Given the description of an element on the screen output the (x, y) to click on. 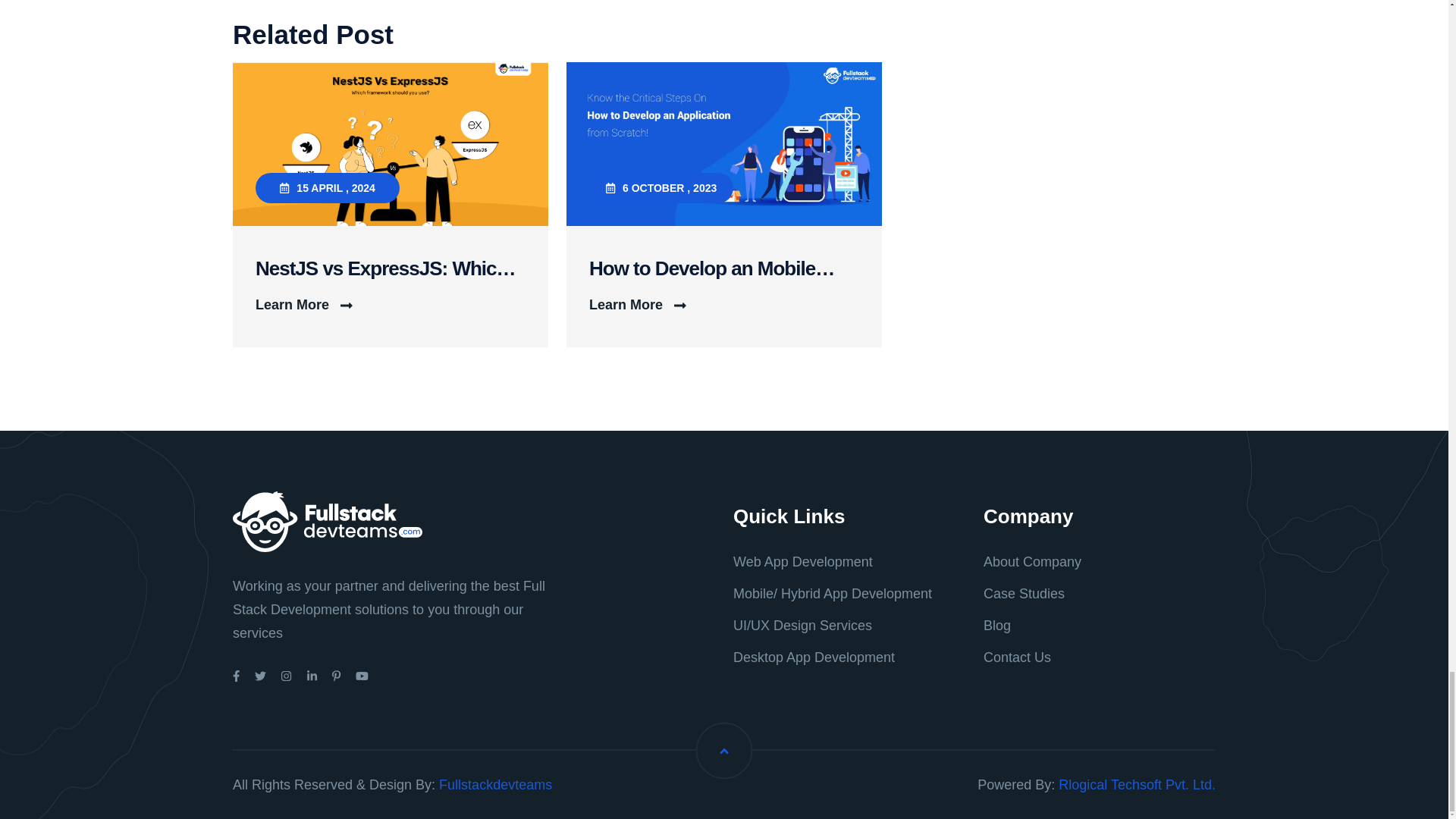
NestJS vs ExpressJS: Which Framework Should You Use? (390, 268)
Learn More (304, 304)
Learn More (637, 304)
How to Develop an Mobile Application From Scratch? (724, 268)
